Given the description of an element on the screen output the (x, y) to click on. 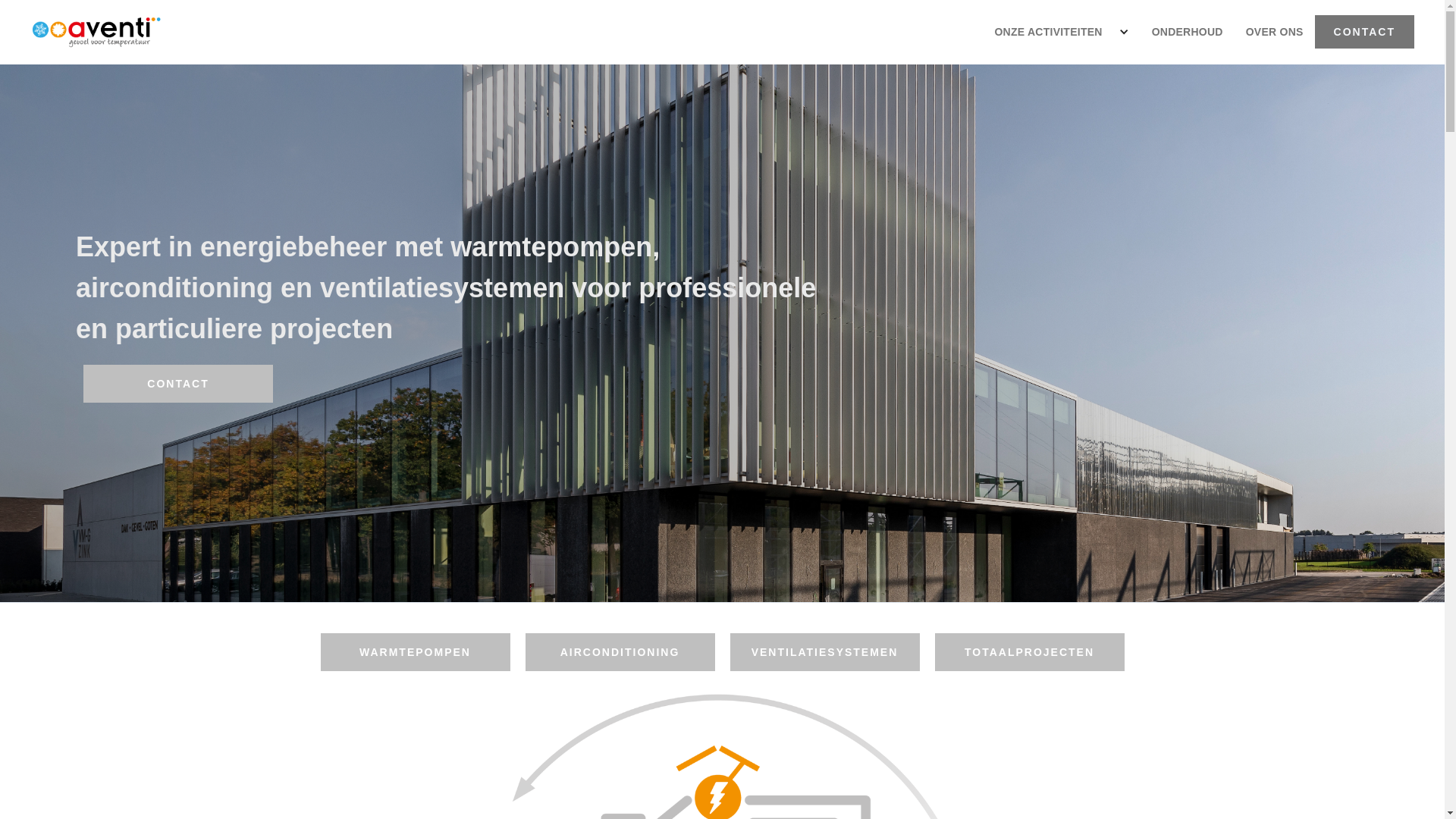
OVER ONS Element type: text (1274, 31)
CONTACT Element type: text (1364, 31)
VENTILATIESYSTEMEN Element type: text (824, 652)
AIRCONDITIONING Element type: text (619, 652)
TOTAALPROJECTEN Element type: text (1028, 652)
ONDERHOUD Element type: text (1187, 31)
CONTACT Element type: text (178, 383)
WARMTEPOMPEN Element type: text (414, 652)
